Given the description of an element on the screen output the (x, y) to click on. 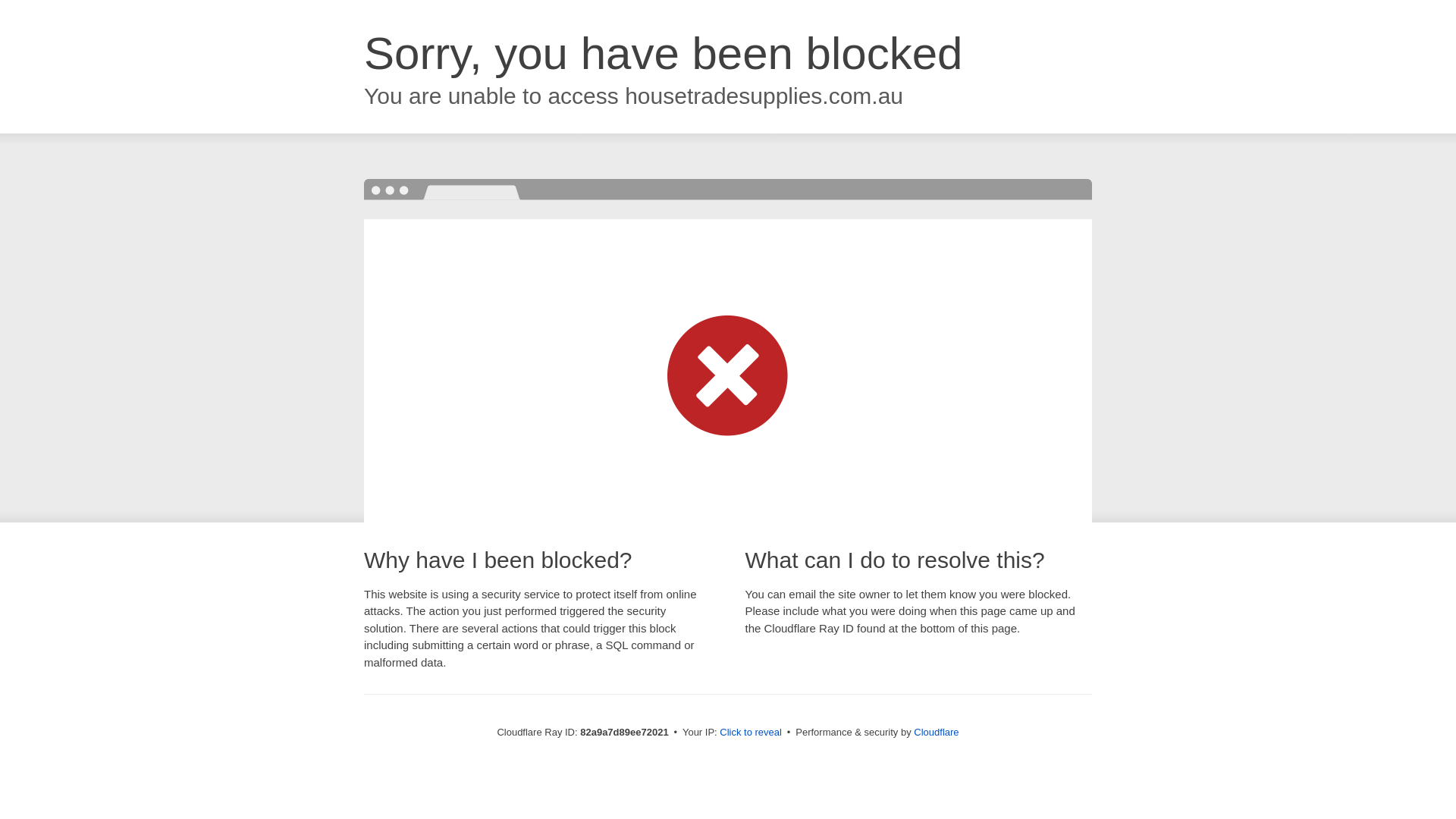
Click to reveal Element type: text (750, 732)
Cloudflare Element type: text (935, 731)
